Given the description of an element on the screen output the (x, y) to click on. 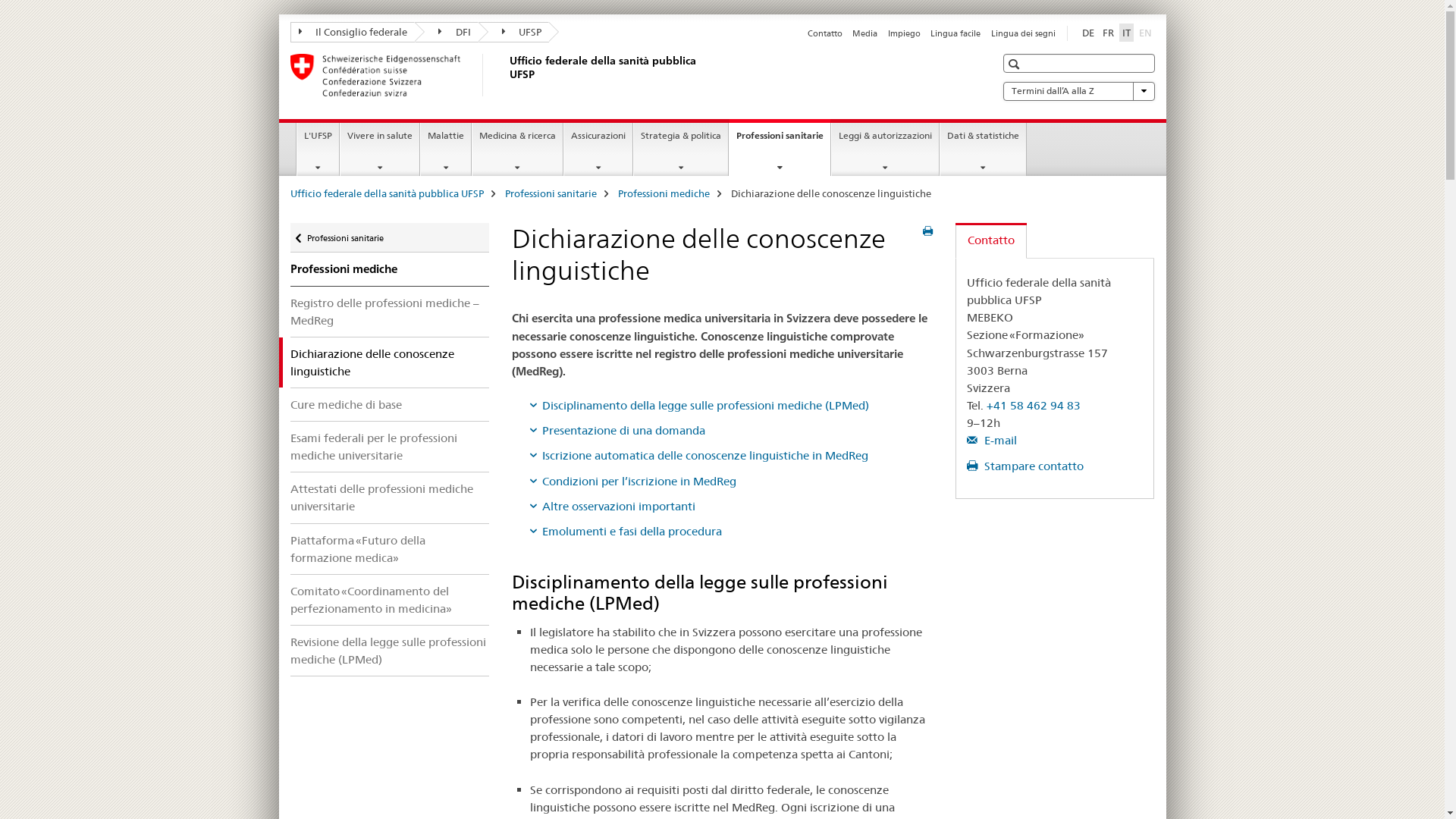
Vivere in salute Element type: text (379, 148)
Professioni mediche Element type: text (663, 193)
E-mail Element type: text (991, 440)
DE Element type: text (1087, 32)
Lingua dei segni Element type: text (1022, 33)
Ritornare
Professioni sanitarie Element type: text (389, 237)
Professioni sanitarie
current page Element type: text (779, 147)
IT Element type: text (1126, 32)
Professioni mediche Element type: text (389, 268)
Assicurazioni Element type: text (598, 148)
EN
disabled Element type: text (1144, 32)
Leggi & autorizzazioni Element type: text (884, 148)
Contatto Element type: text (824, 33)
UFSP Element type: text (513, 31)
Presentazione di una domanda Element type: text (616, 430)
Contatto Element type: text (990, 240)
Stampare contatto Element type: text (1024, 465)
Il Consiglio federale Element type: text (351, 31)
Attestati delle professioni mediche universitarie Element type: text (389, 497)
Professioni sanitarie Element type: text (550, 193)
Revisione della legge sulle professioni mediche (LPMed) Element type: text (389, 650)
Dati & statistiche Element type: text (983, 148)
Medicina & ricerca Element type: text (517, 148)
FR Element type: text (1108, 32)
Altre osservazioni importanti Element type: text (611, 505)
Stampa la pagina Element type: hover (927, 230)
Media Element type: text (864, 33)
L'UFSP Element type: text (317, 148)
Esami federali per le professioni mediche universitarie Element type: text (389, 446)
Lingua facile Element type: text (955, 33)
Cure mediche di base Element type: text (389, 404)
Strategia & politica Element type: text (680, 148)
Impiego Element type: text (904, 33)
DFI Element type: text (446, 31)
Malattie Element type: text (445, 148)
Emolumenti e fasi della procedura Element type: text (625, 531)
+41 58 462 94 83 Element type: text (1033, 405)
